Given the description of an element on the screen output the (x, y) to click on. 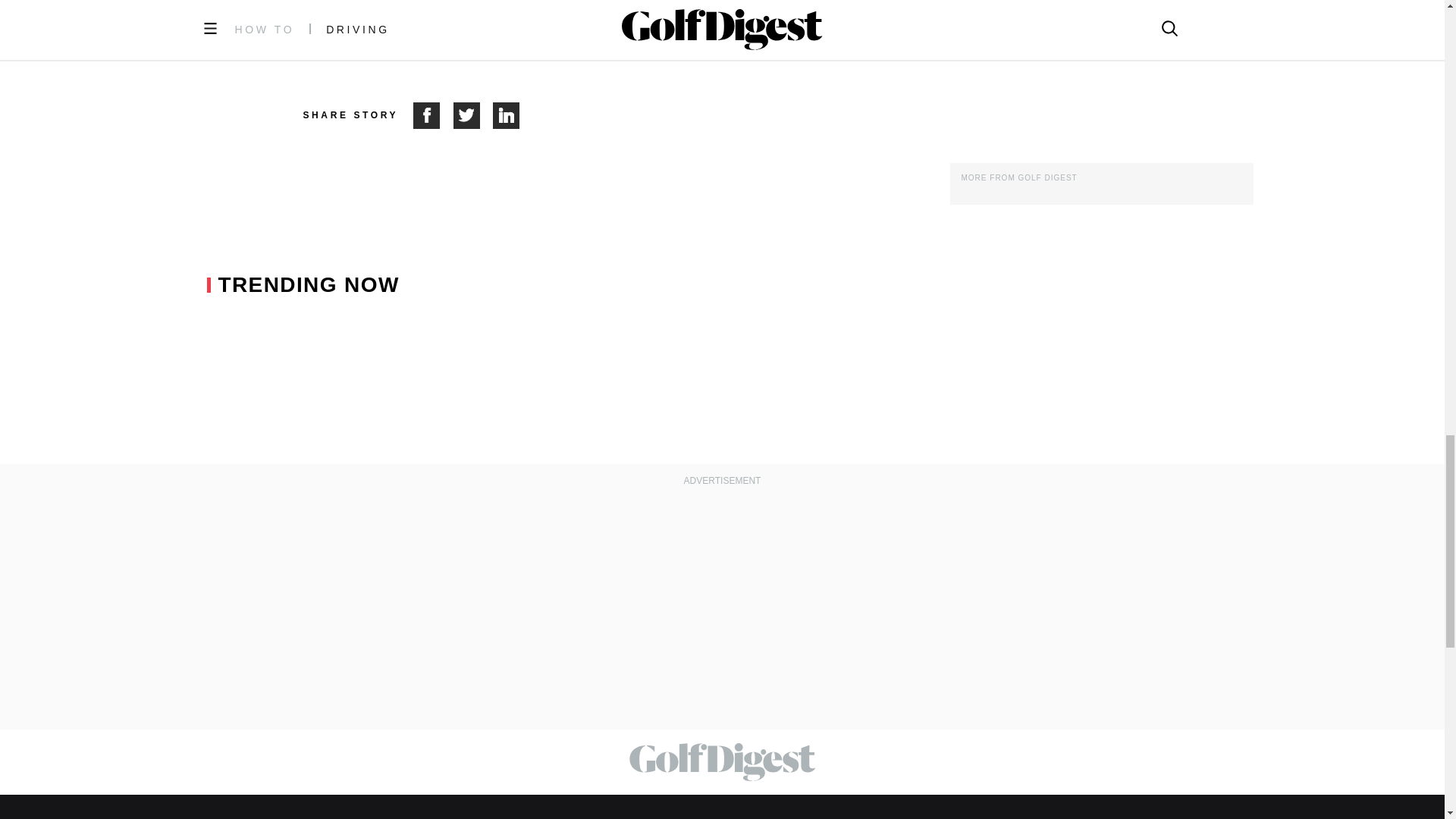
Share on Facebook (432, 115)
Share on LinkedIn (506, 115)
Share on Twitter (472, 115)
